Given the description of an element on the screen output the (x, y) to click on. 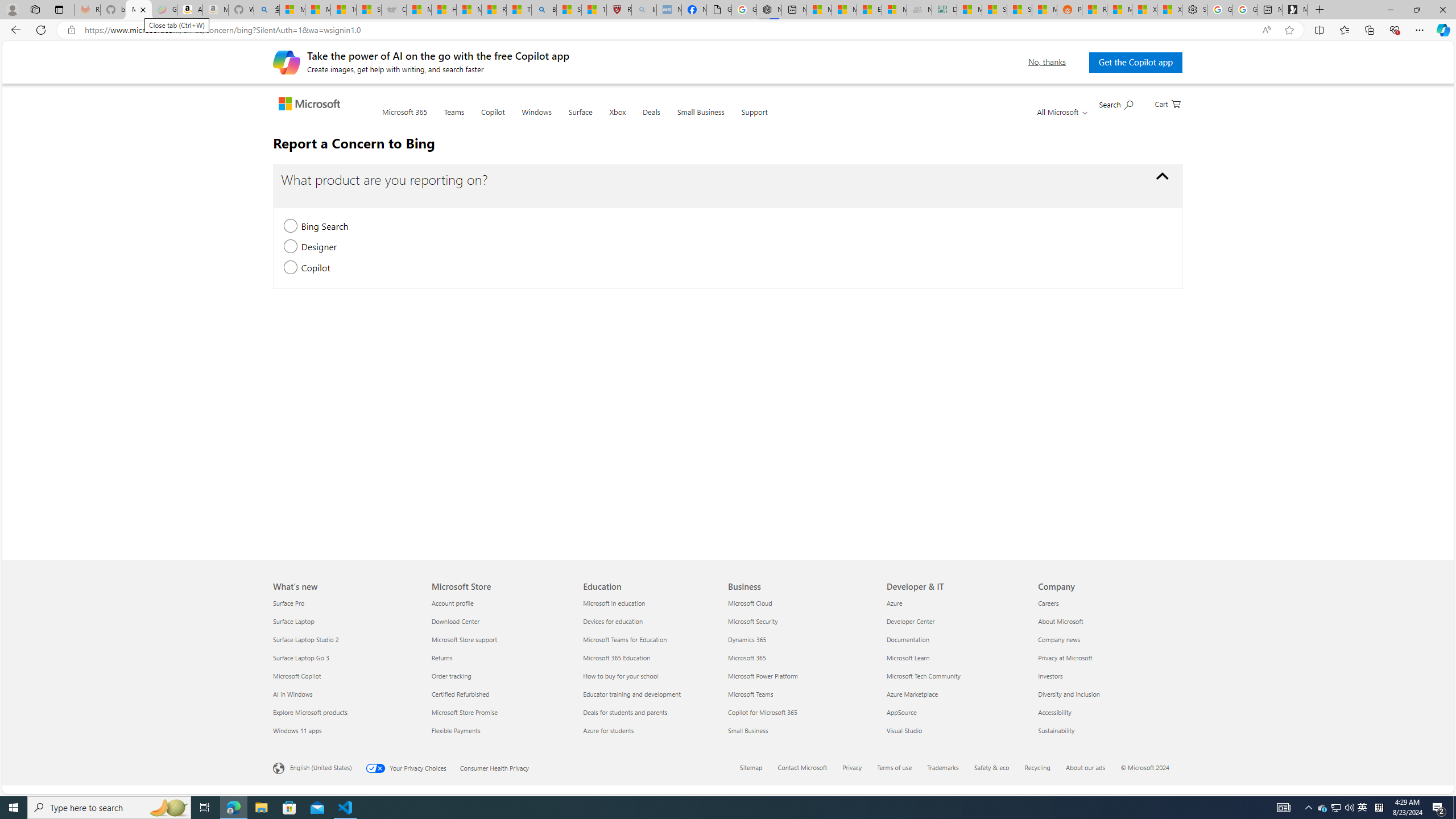
Deals for students and parents Education (625, 711)
Windows (536, 118)
How to buy for your school Education (620, 675)
Surface Laptop Studio 2 What's new (306, 638)
Download Center Microsoft Store (455, 620)
Educator training and development Education (631, 693)
Surface Laptop Studio 2 (345, 638)
Flexible Payments (499, 730)
Microsoft in education Education (613, 602)
